Given the description of an element on the screen output the (x, y) to click on. 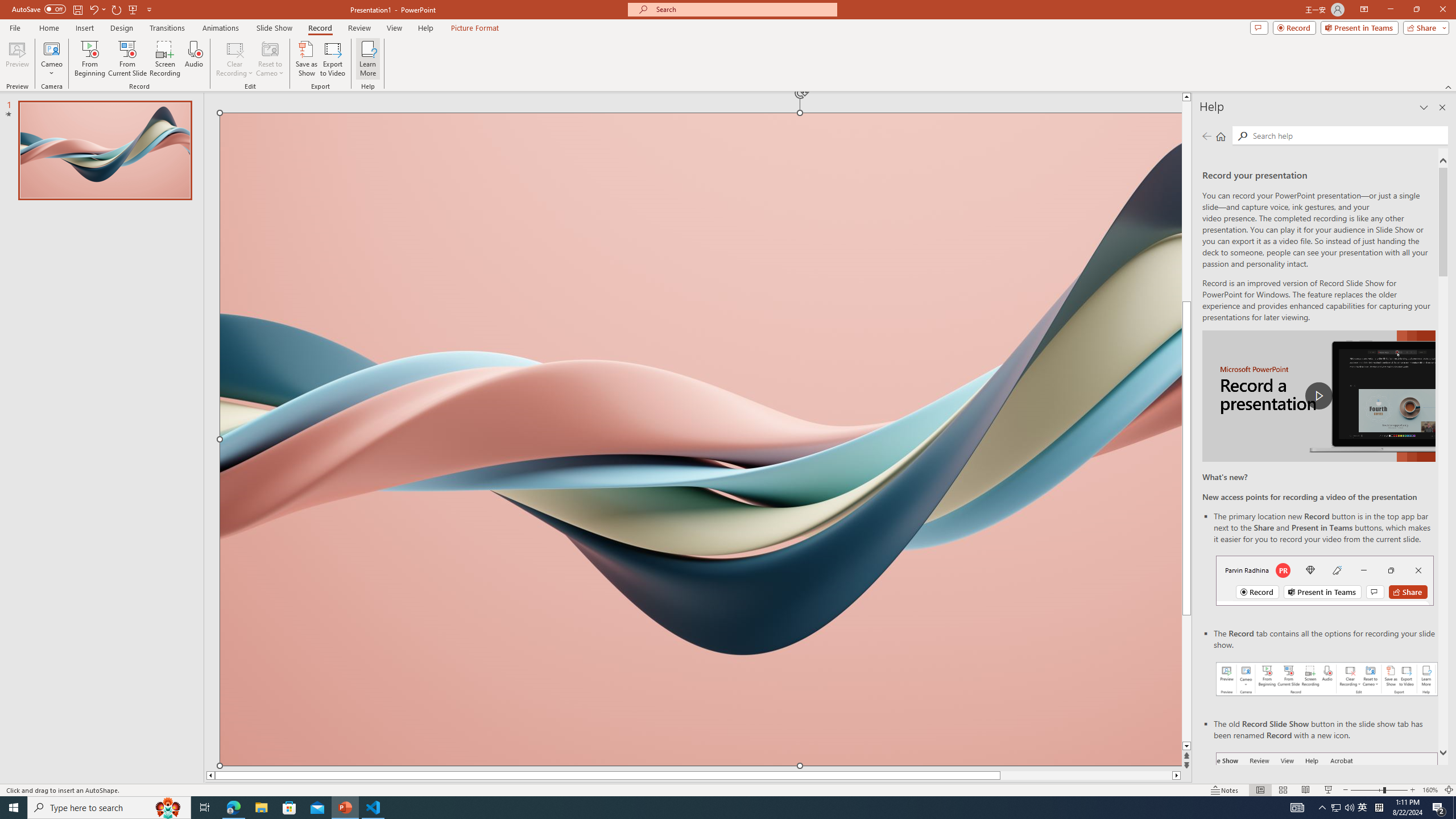
Zoom 160% (1430, 790)
Insert (83, 28)
Home (1220, 136)
File Tab (15, 27)
Learn More (368, 58)
Customize Quick Access Toolbar (149, 9)
Collapse the Ribbon (1448, 86)
Share (1423, 27)
Task Pane Options (1423, 107)
Slide (104, 150)
Zoom to Fit  (1449, 790)
